Given the description of an element on the screen output the (x, y) to click on. 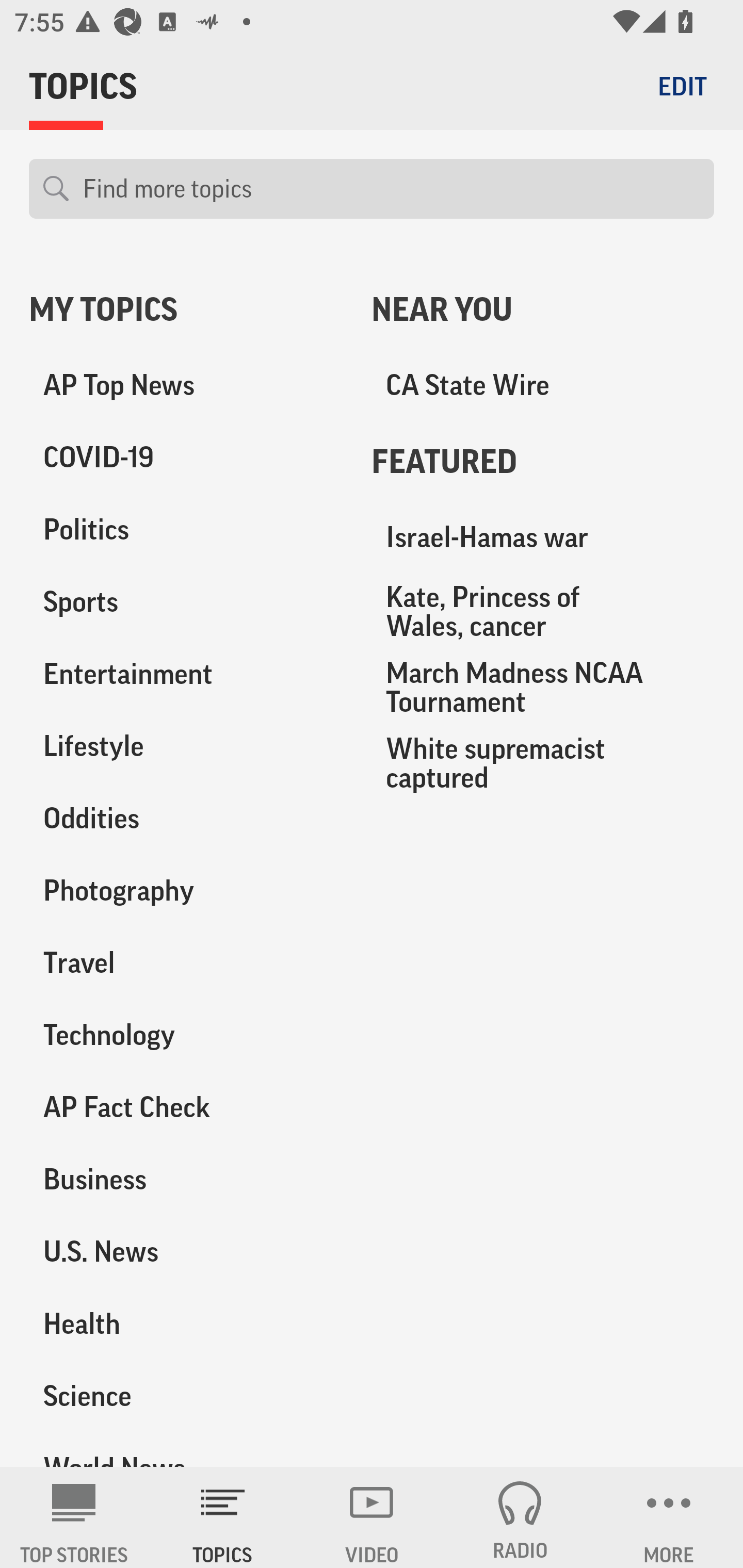
EDIT (682, 86)
Find more topics (391, 188)
AP Top News (185, 385)
CA State Wire (542, 385)
COVID-19 (185, 457)
Politics (185, 529)
Israel-Hamas war (542, 537)
Sports (185, 602)
Kate, Princess of Wales, cancer (542, 611)
Entertainment (185, 674)
March Madness NCAA Tournament (542, 686)
Lifestyle (185, 746)
White supremacist captured (542, 762)
Oddities (185, 818)
Photography (185, 890)
Travel (185, 962)
Technology (185, 1034)
AP Fact Check (185, 1106)
Business (185, 1179)
U.S. News (185, 1251)
Health (185, 1323)
Science (185, 1395)
AP News TOP STORIES (74, 1517)
TOPICS (222, 1517)
VIDEO (371, 1517)
RADIO (519, 1517)
MORE (668, 1517)
